Given the description of an element on the screen output the (x, y) to click on. 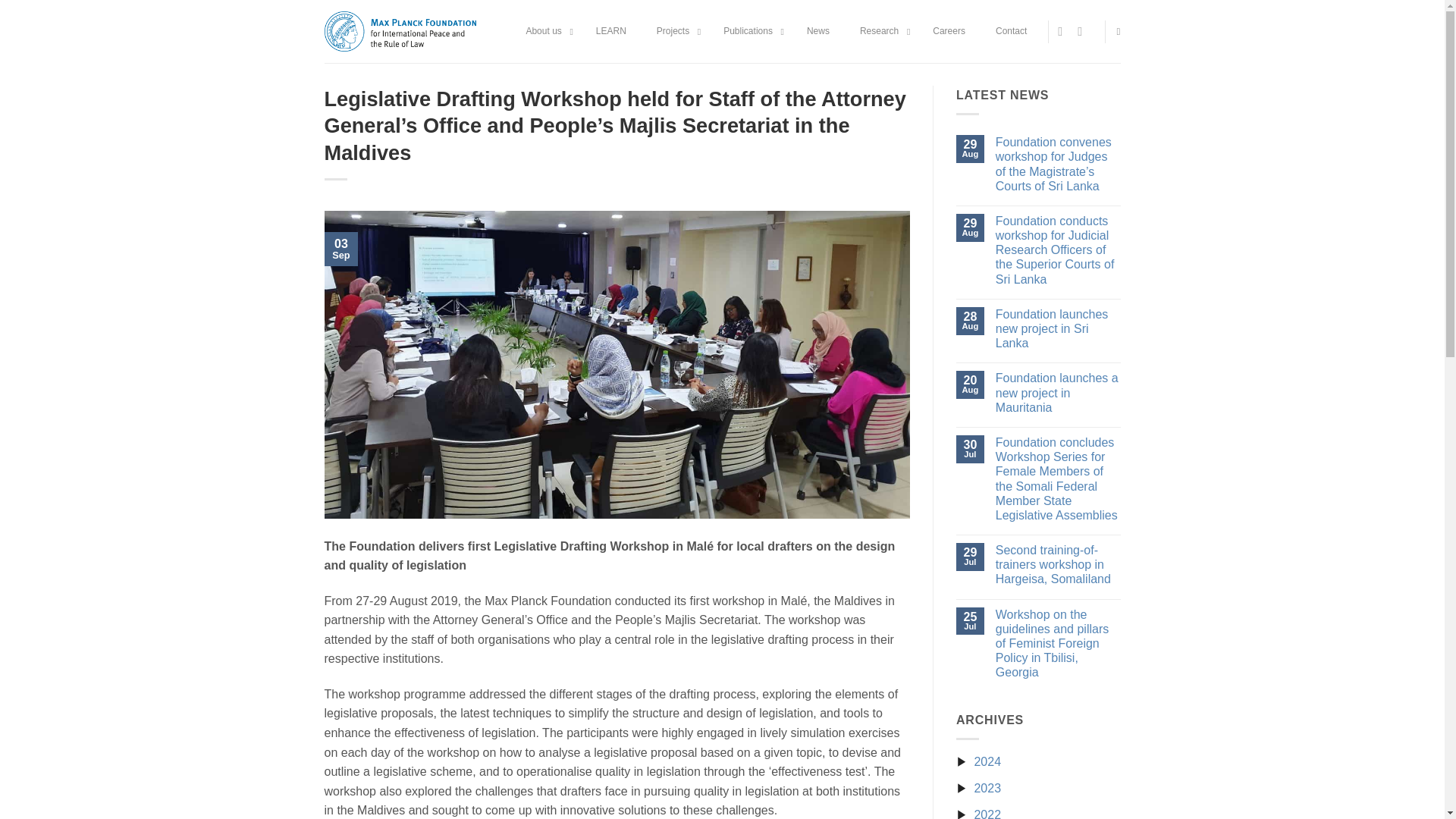
Foundation launches a new project in Mauritania (1058, 392)
LEARN (611, 31)
Follow on LinkedIn (1083, 30)
About us (545, 31)
Second training-of-trainers workshop in Hargeisa, Somaliland (1058, 564)
Foundation launches new project in Sri Lanka (1058, 329)
